Given the description of an element on the screen output the (x, y) to click on. 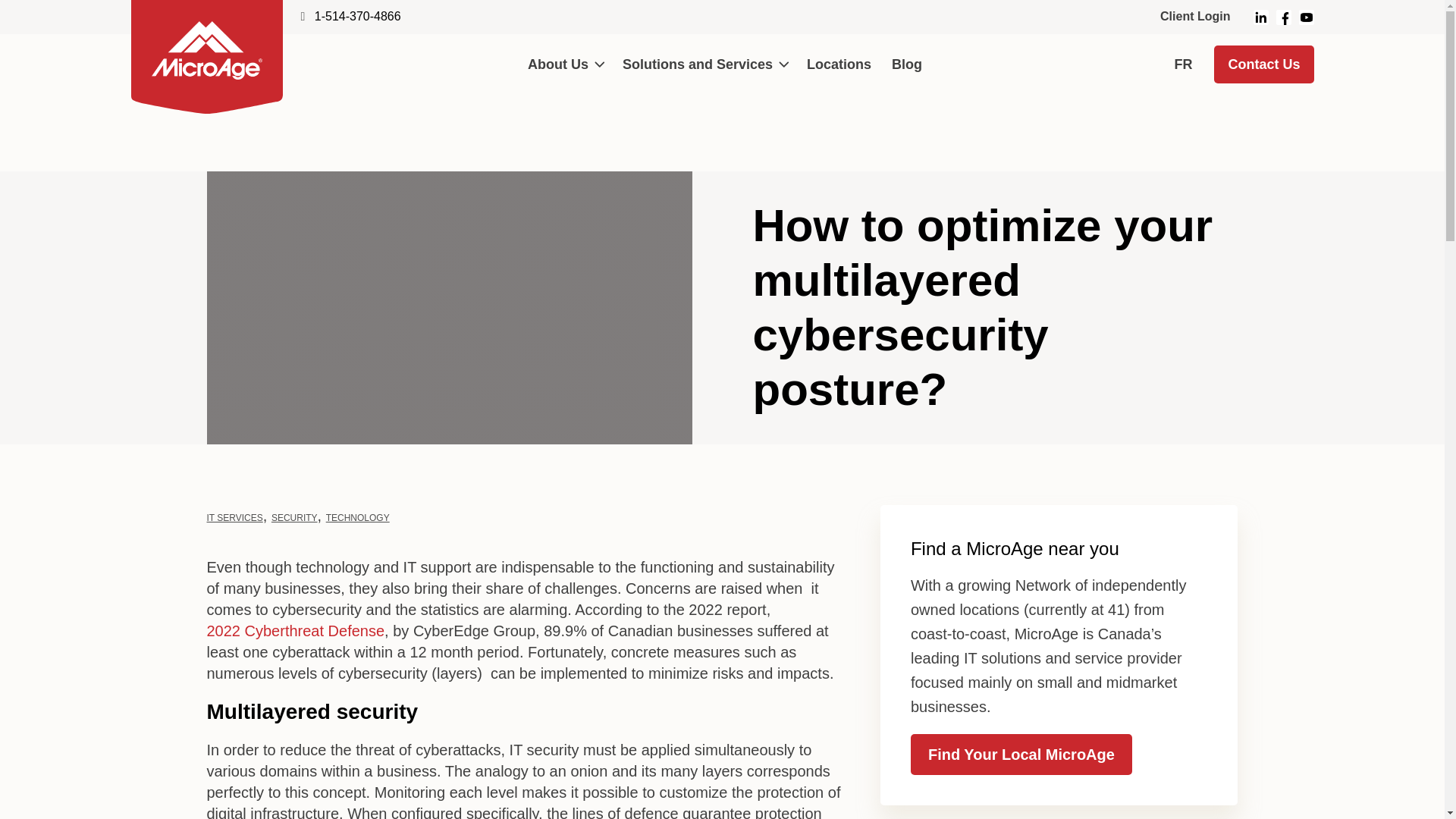
TECHNOLOGY (358, 517)
About Us (563, 64)
Blog (907, 64)
Find a MicroAge near you (1015, 548)
IT SERVICES (234, 517)
Client Login (1194, 17)
Find Your Local MicroAge (1021, 753)
Solutions and Services (703, 64)
SECURITY (293, 517)
FR (1190, 64)
Locations (839, 64)
2022 Cyberthreat Defense (295, 630)
FR (1190, 64)
Contact Us (1263, 64)
1-514-370-4866 (357, 15)
